Given the description of an element on the screen output the (x, y) to click on. 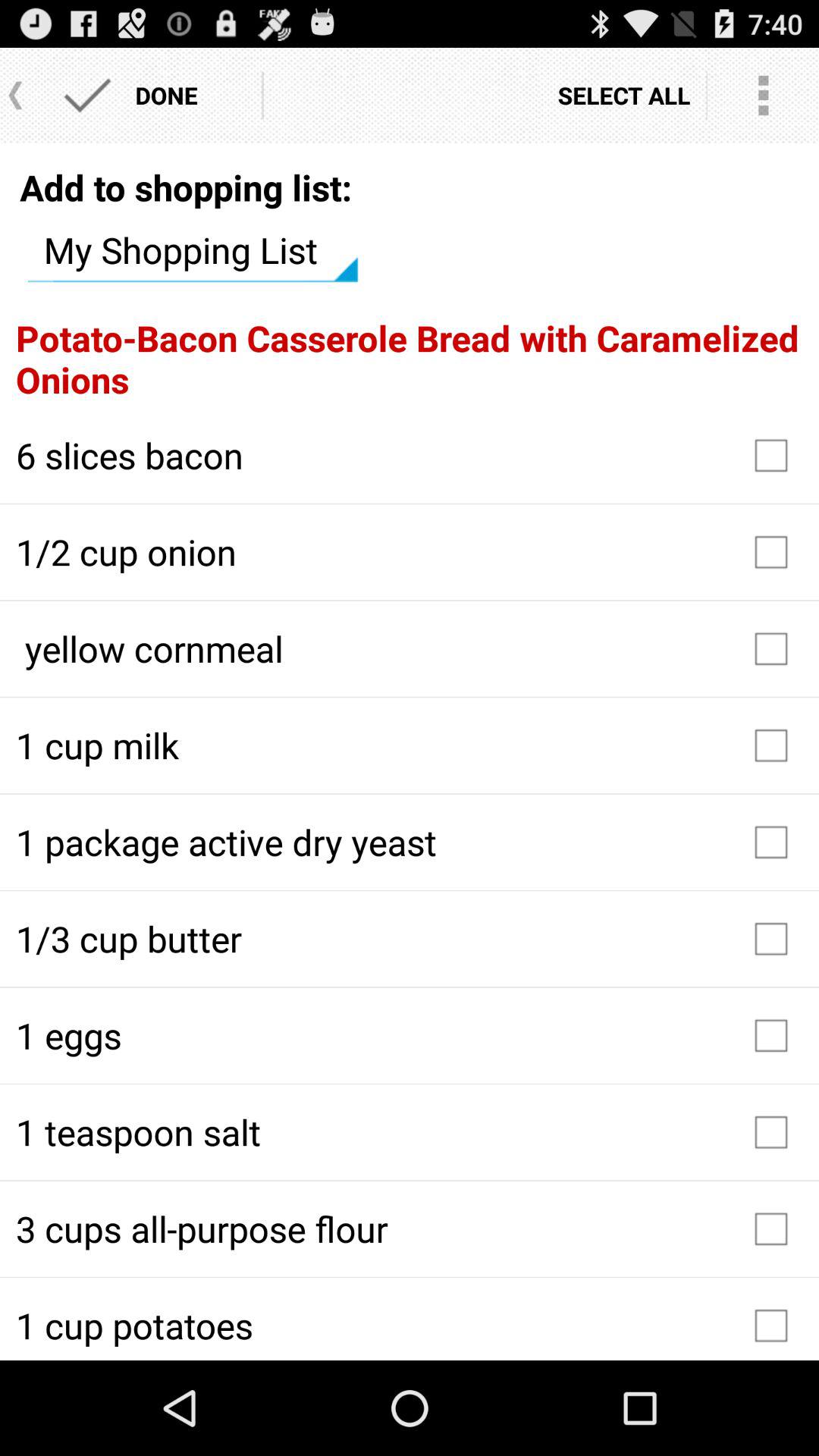
open item above the 3 cups all icon (409, 1132)
